Given the description of an element on the screen output the (x, y) to click on. 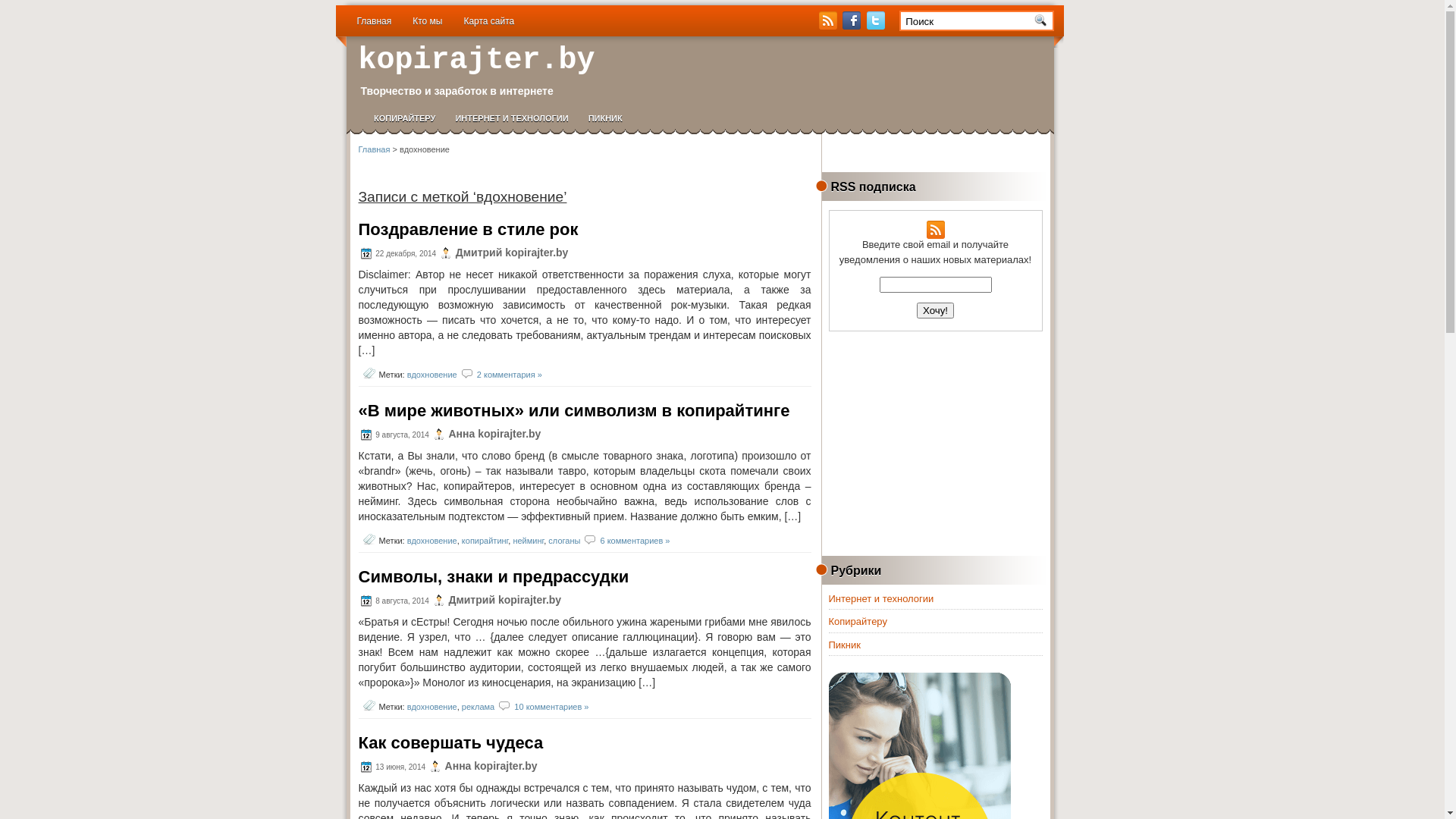
Advertisement Element type: hover (938, 441)
kopirajter.by Element type: text (464, 56)
